Given the description of an element on the screen output the (x, y) to click on. 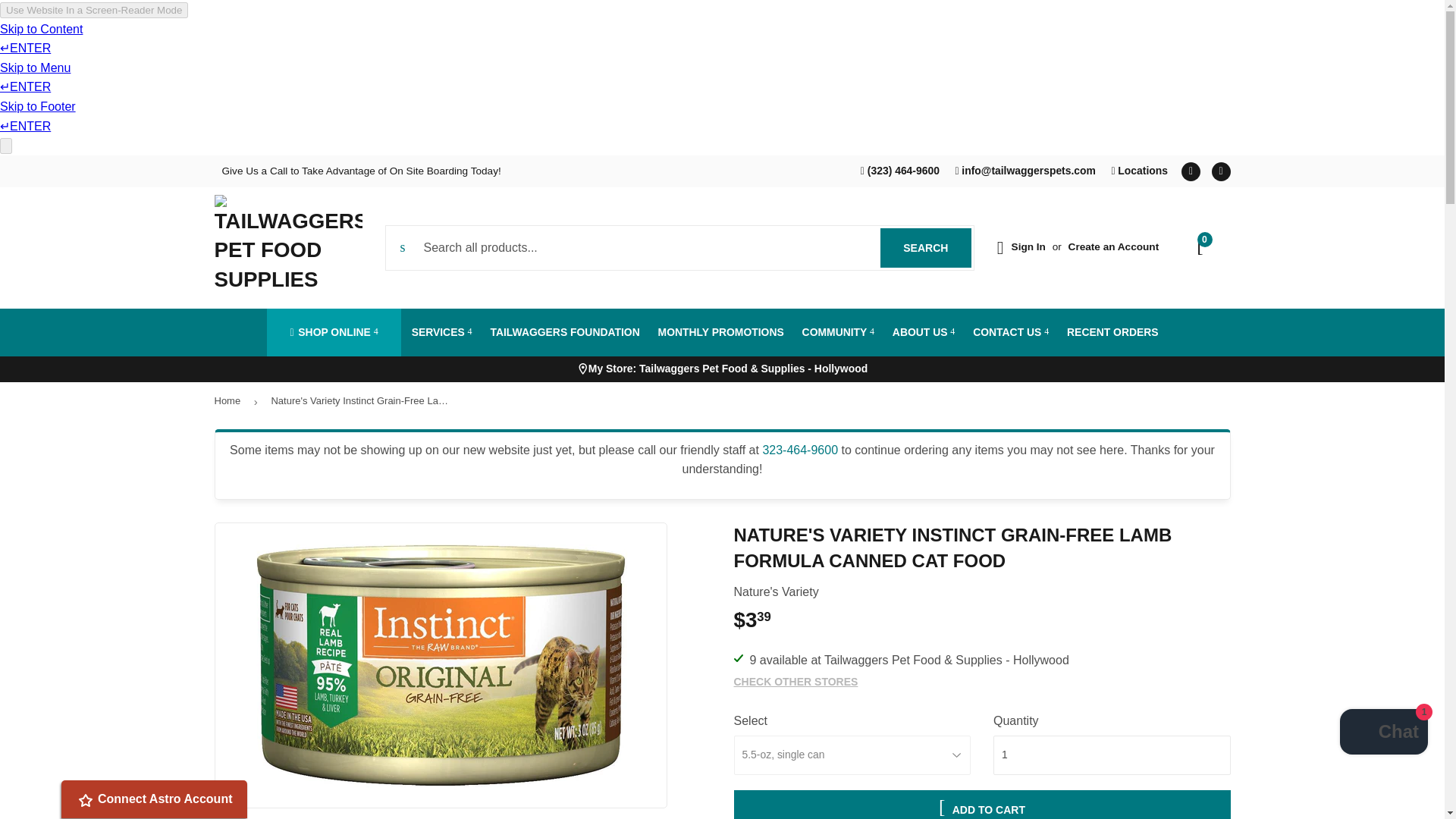
Instagram (925, 247)
 Locations (1220, 171)
Open Product Zoom (1138, 170)
Facebook (441, 665)
1 (1189, 171)
Create an Account (1111, 754)
Sign In (1113, 246)
View all stores (1028, 246)
Shopify online store chat (727, 370)
0 (1383, 733)
